Given the description of an element on the screen output the (x, y) to click on. 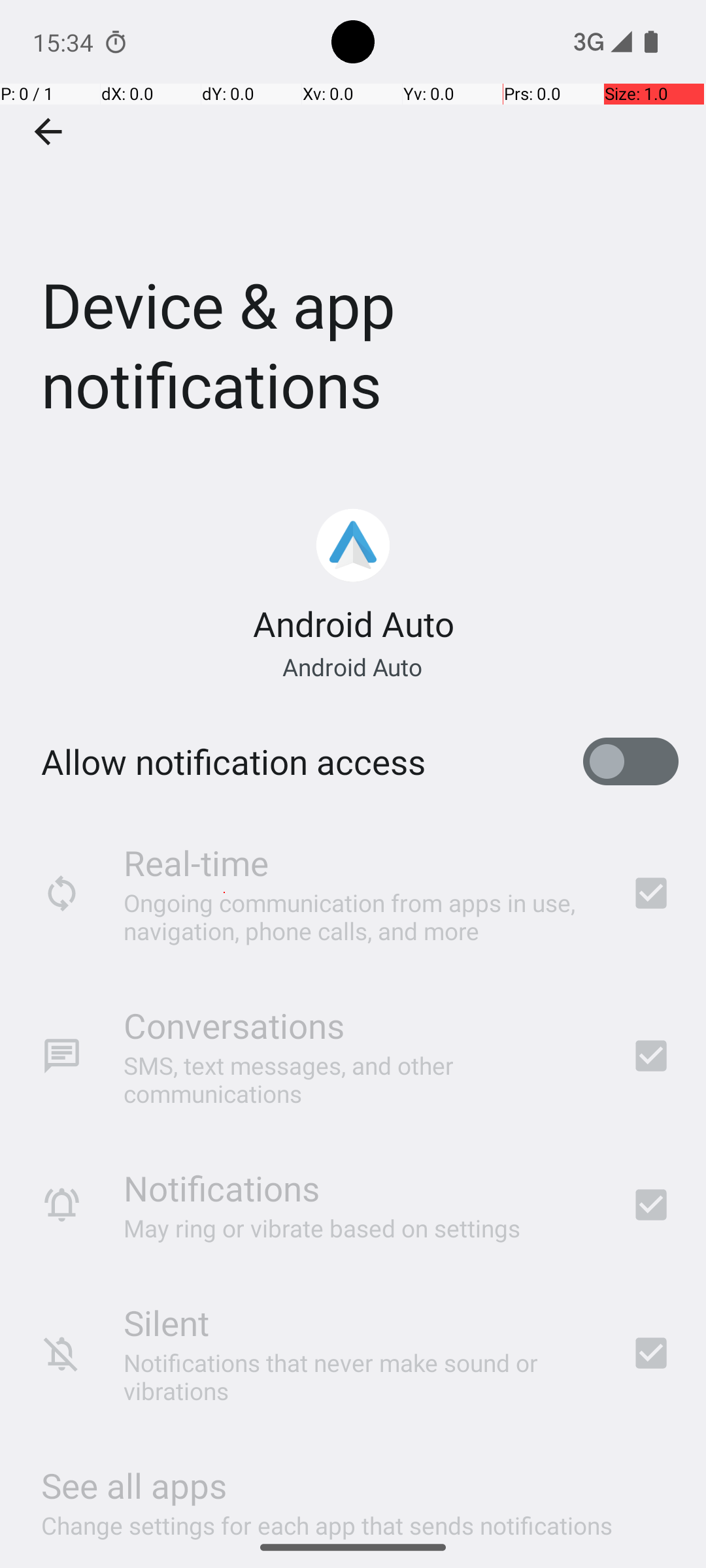
Allow notification access Element type: android.widget.TextView (233, 761)
Real-time Element type: android.widget.TextView (195, 862)
Ongoing communication from apps in use, navigation, phone calls, and more Element type: android.widget.TextView (359, 916)
SMS, text messages, and other communications Element type: android.widget.TextView (359, 1079)
May ring or vibrate based on settings Element type: android.widget.TextView (322, 1227)
Notifications that never make sound or vibrations Element type: android.widget.TextView (359, 1376)
See all apps Element type: android.widget.TextView (133, 1485)
Change settings for each app that sends notifications Element type: android.widget.TextView (326, 1517)
